Given the description of an element on the screen output the (x, y) to click on. 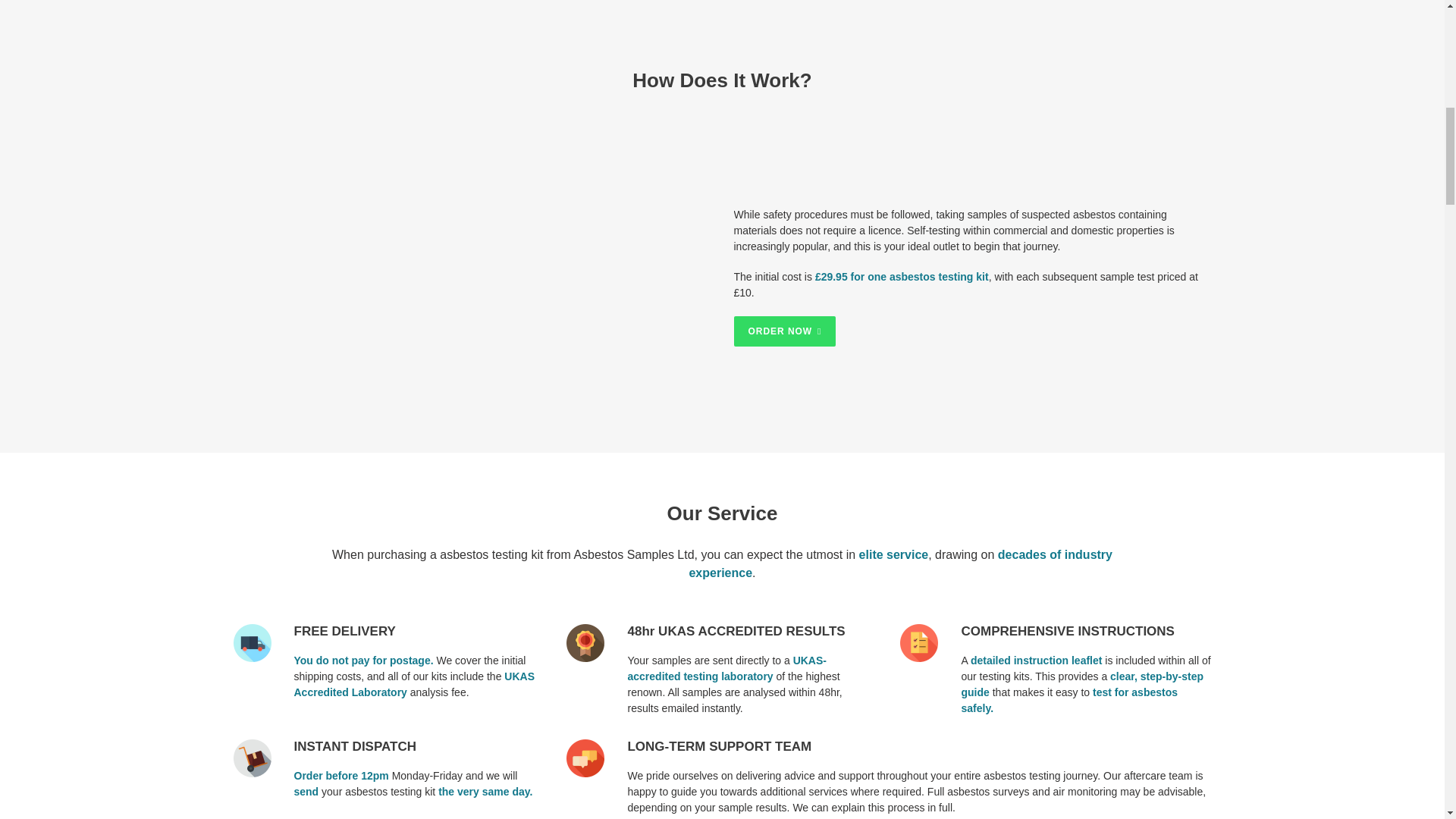
ORDER NOW (784, 331)
